Given the description of an element on the screen output the (x, y) to click on. 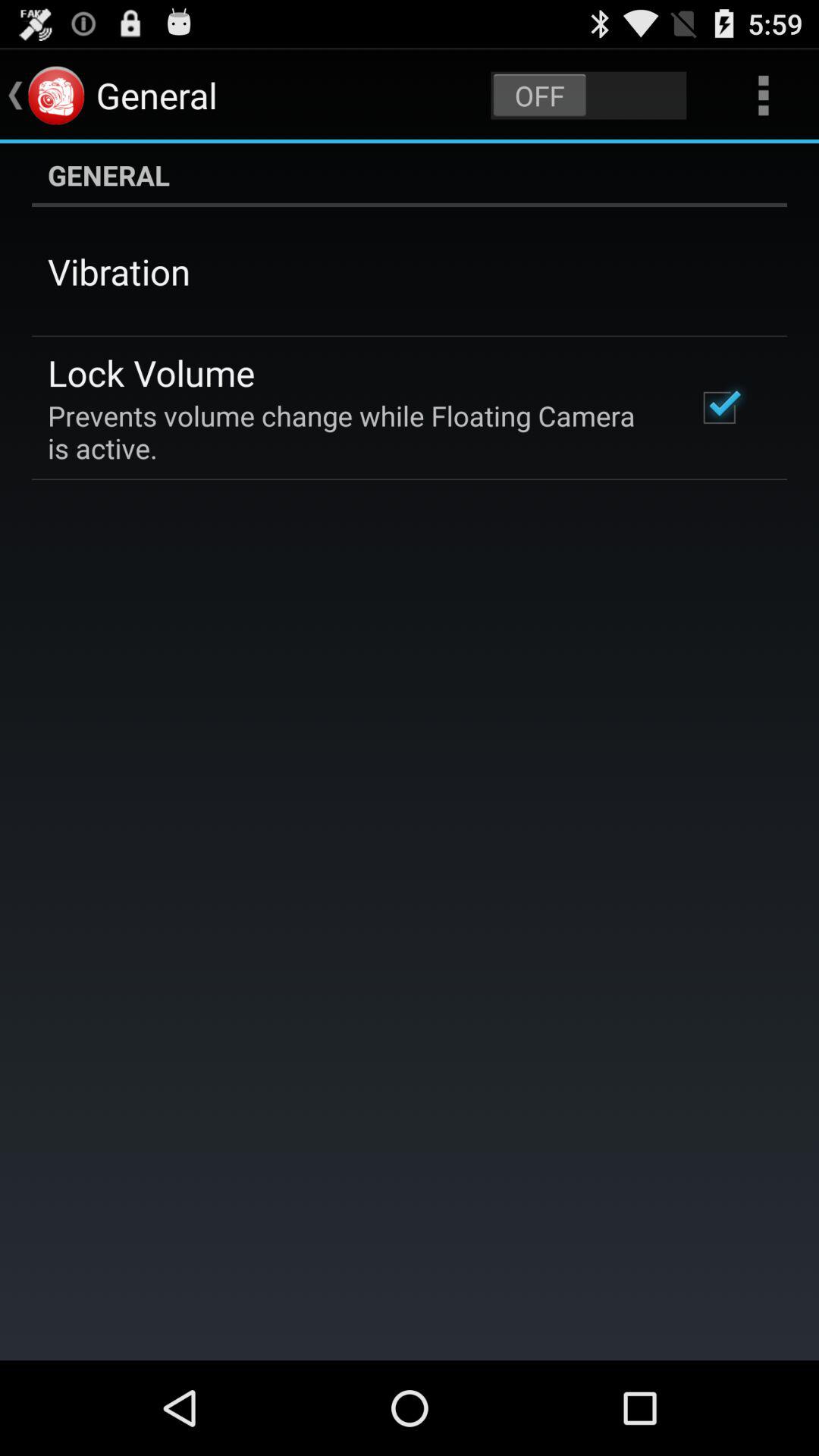
click vibration app (118, 271)
